Given the description of an element on the screen output the (x, y) to click on. 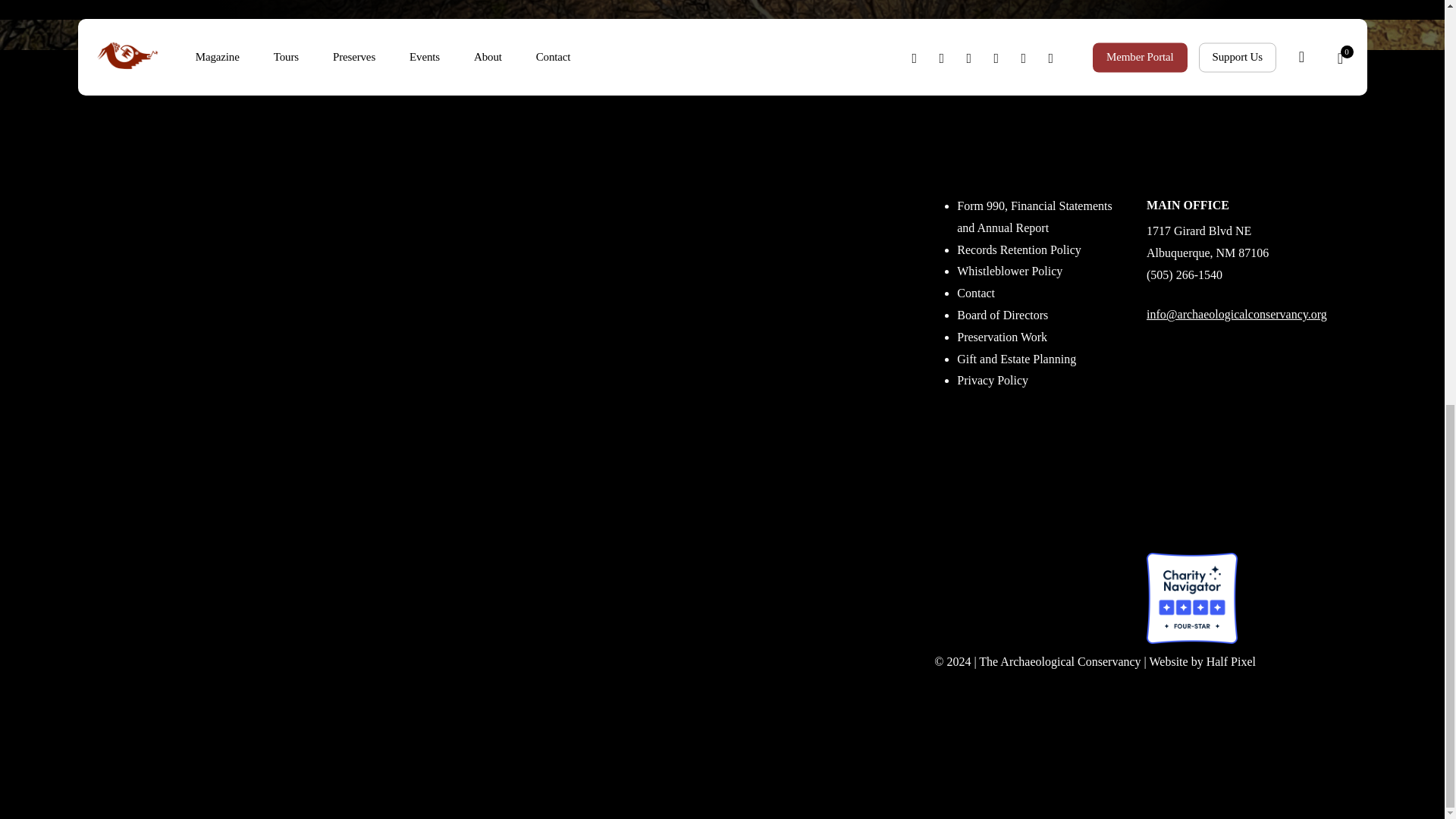
Form 990, Financial Statements and Annual Report (1034, 216)
Contact (975, 292)
Whistleblower Policy (1009, 270)
Privacy Policy (991, 379)
Board of Directors (1002, 314)
Gift and Estate Planning (1015, 358)
Preservation Work (1001, 336)
Records Retention Policy (1018, 249)
